Given the description of an element on the screen output the (x, y) to click on. 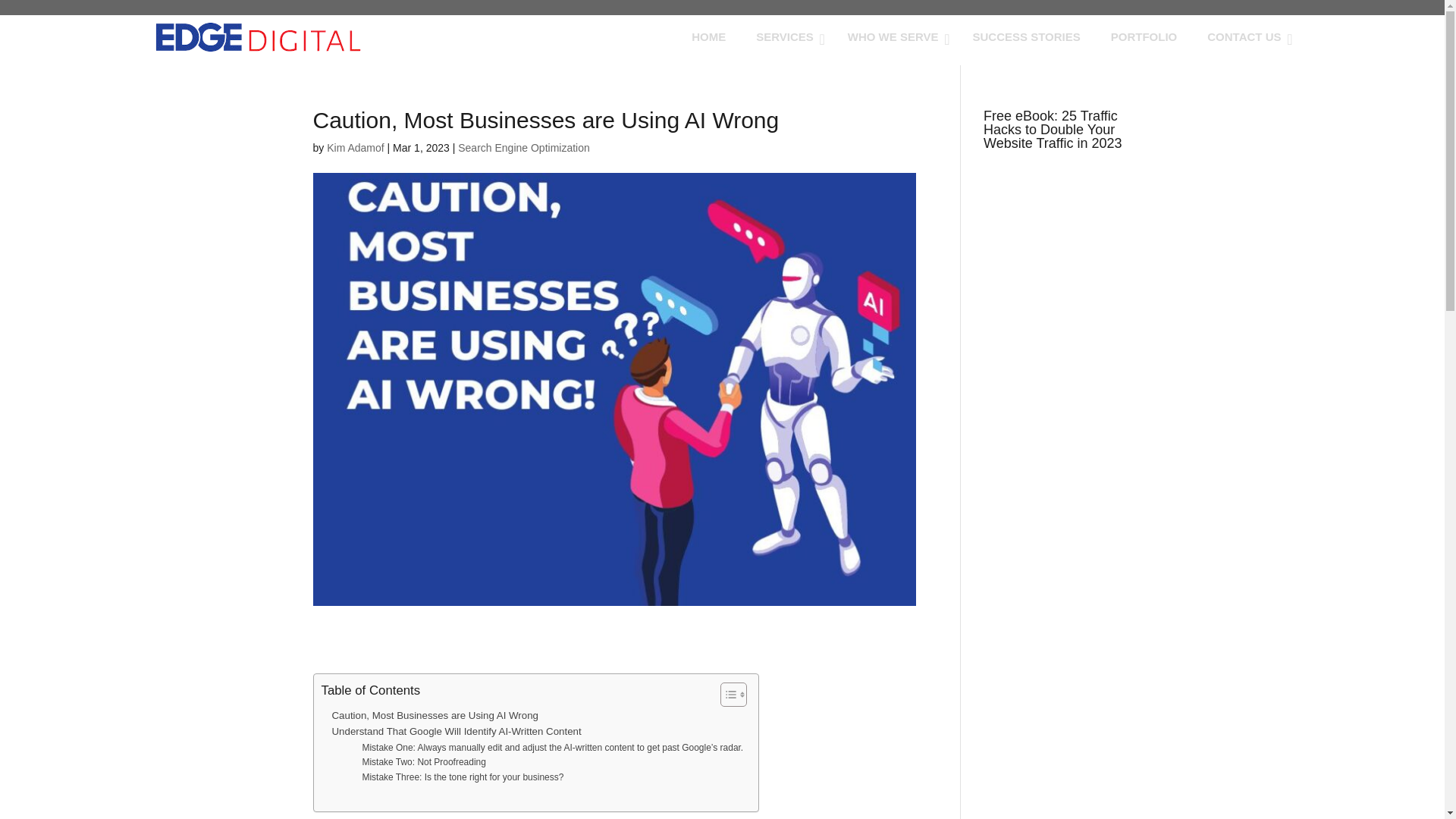
Mistake Three: Is the tone right for your business? (462, 777)
SERVICES (786, 36)
SUCCESS STORIES (1025, 36)
Understand That Google Will Identify AI-Written Content (455, 731)
CONTACT US (1246, 36)
WHO WE SERVE (895, 36)
PORTFOLIO (1144, 36)
HOME (709, 36)
Caution, Most Businesses are Using AI Wrong (434, 715)
Posts by Kim Adamof (355, 147)
Mistake Two: Not Proofreading (422, 762)
